Given the description of an element on the screen output the (x, y) to click on. 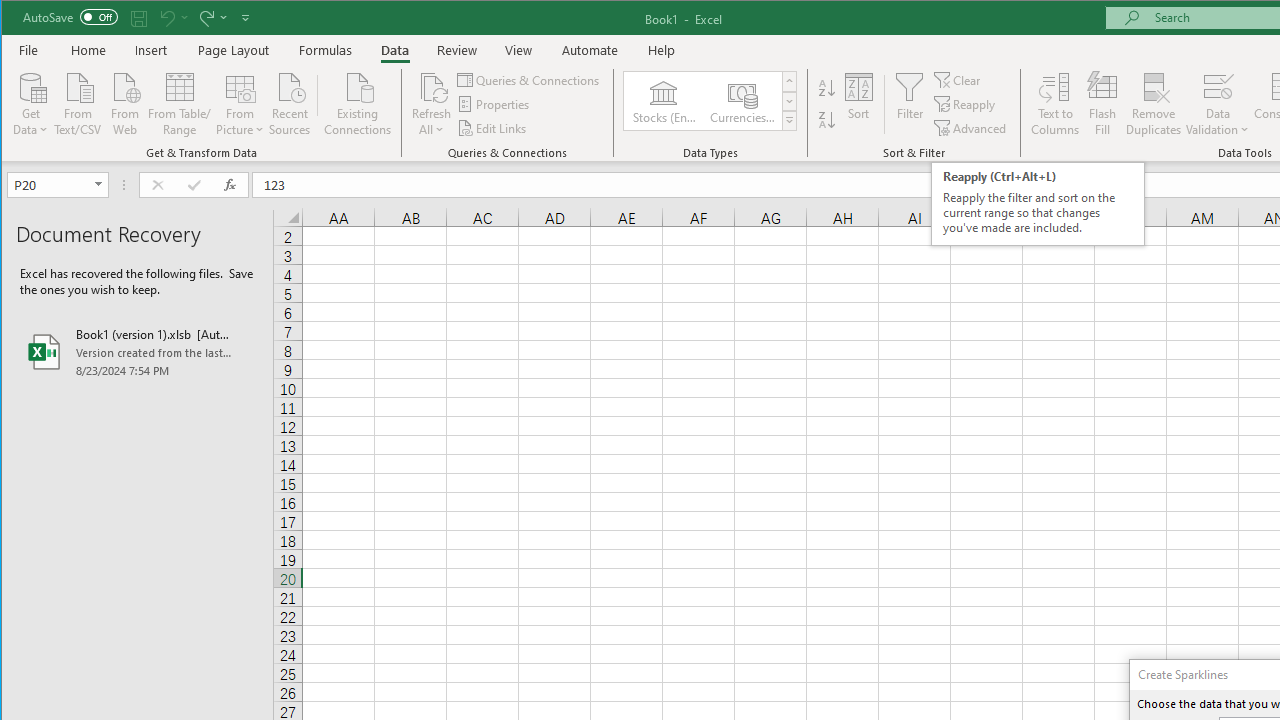
Sort Smallest to Largest (827, 88)
